Given the description of an element on the screen output the (x, y) to click on. 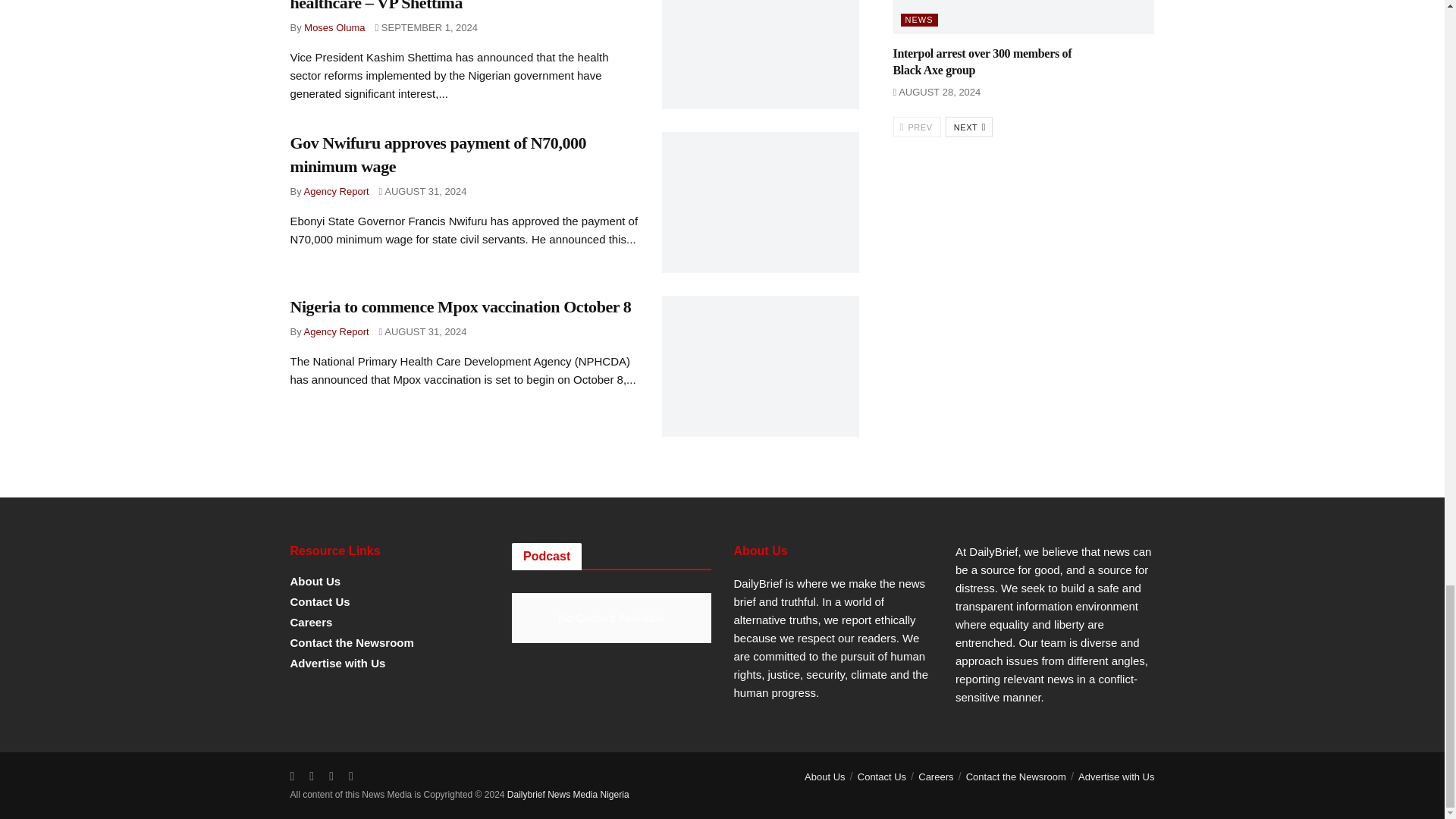
Next (968, 127)
Previous (916, 127)
Dailybrief News Media Nigeria (567, 794)
